Given the description of an element on the screen output the (x, y) to click on. 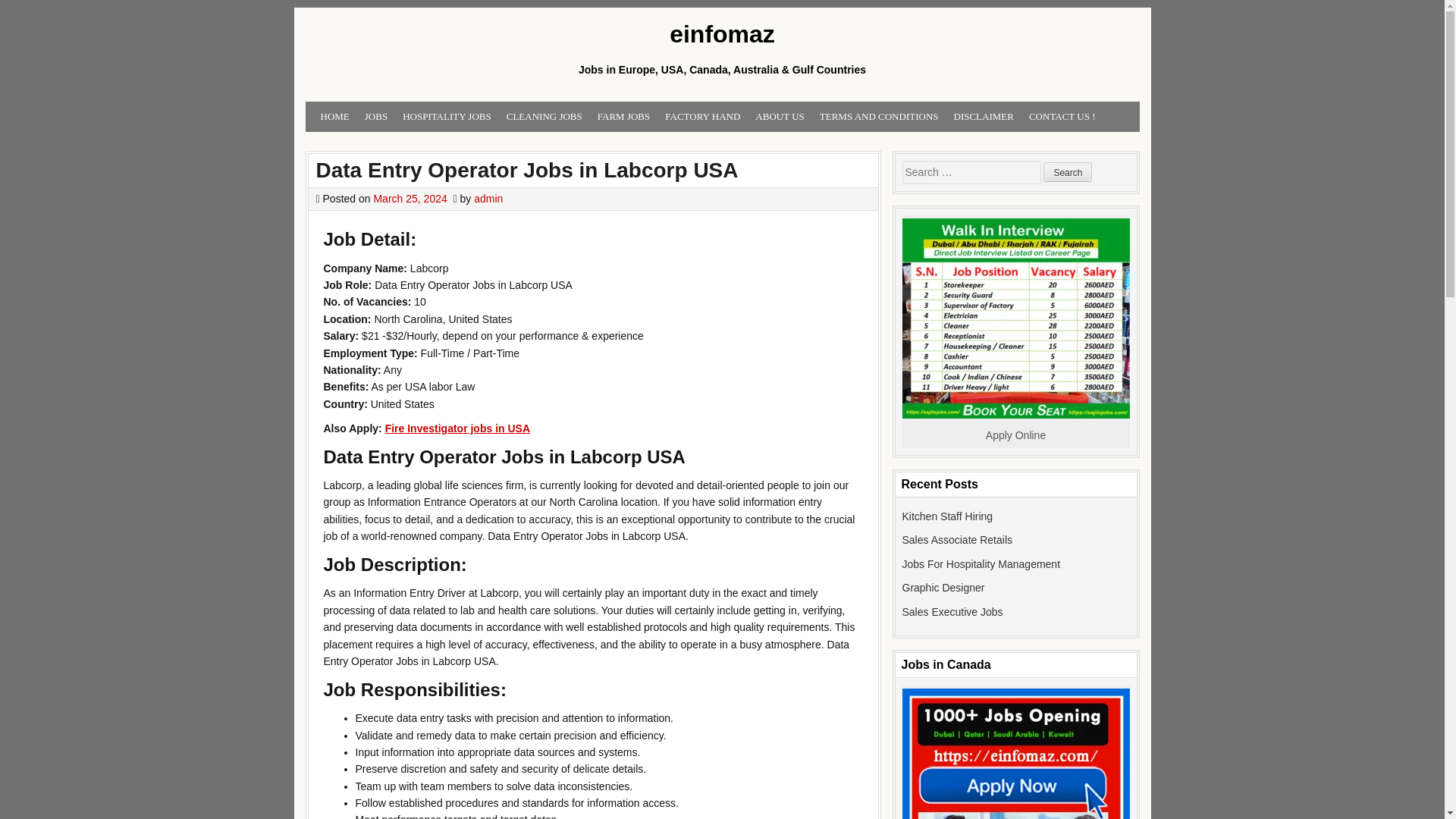
admin (488, 198)
Sales Executive Jobs (952, 612)
DISCLAIMER (984, 116)
CONTACT US ! (1062, 116)
ABOUT US (779, 116)
TERMS AND CONDITIONS (879, 116)
Search (1067, 171)
Search (1067, 171)
Graphic Designer (943, 587)
March 25, 2024 (409, 198)
Sales Associate Retails (957, 539)
HOME (334, 116)
einfomaz (721, 34)
Jobs For Hospitality Management (981, 563)
HOSPITALITY JOBS (446, 116)
